Given the description of an element on the screen output the (x, y) to click on. 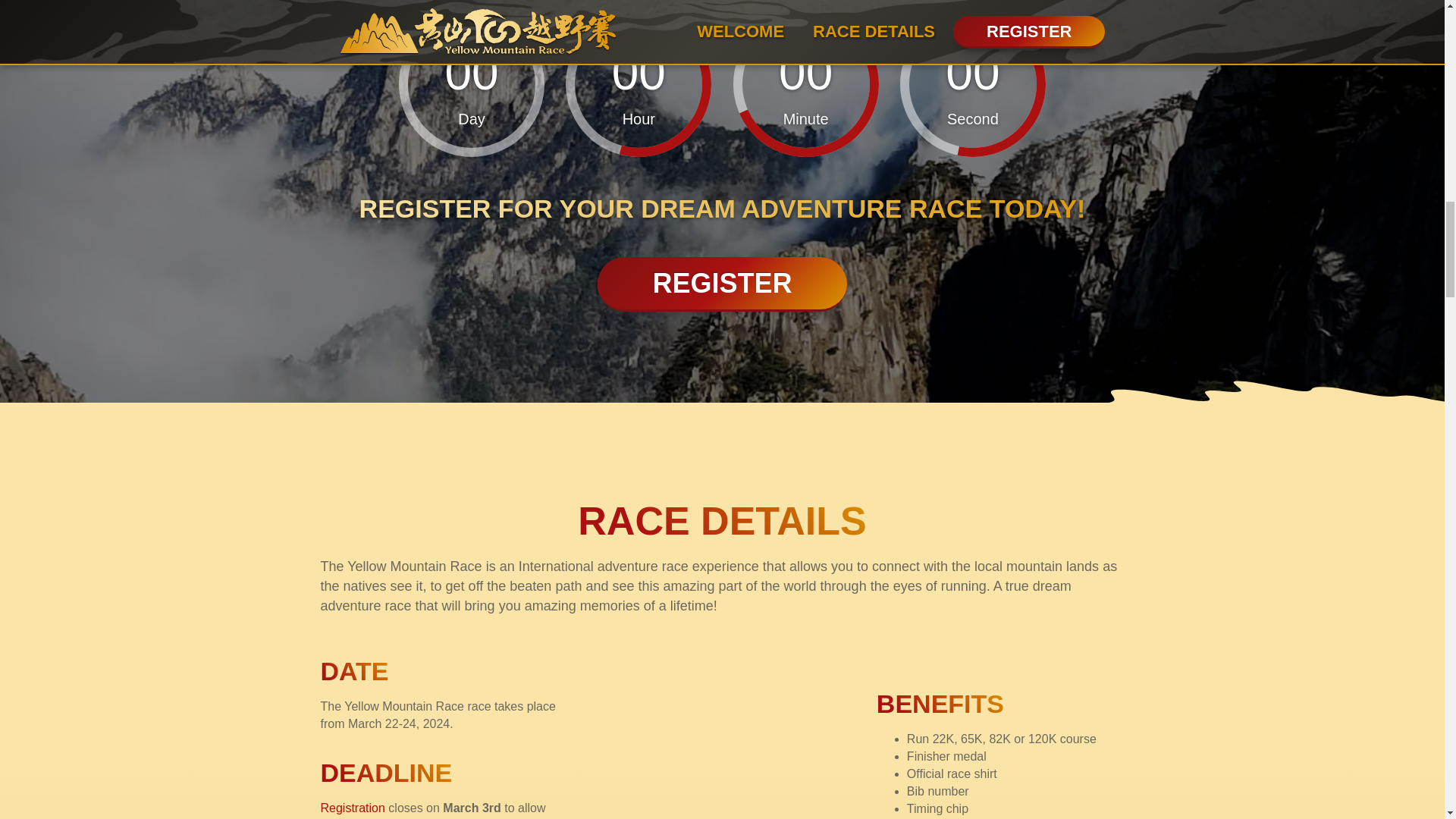
REGISTER (720, 284)
Yellow Mountain (721, 779)
Registration (352, 807)
